Given the description of an element on the screen output the (x, y) to click on. 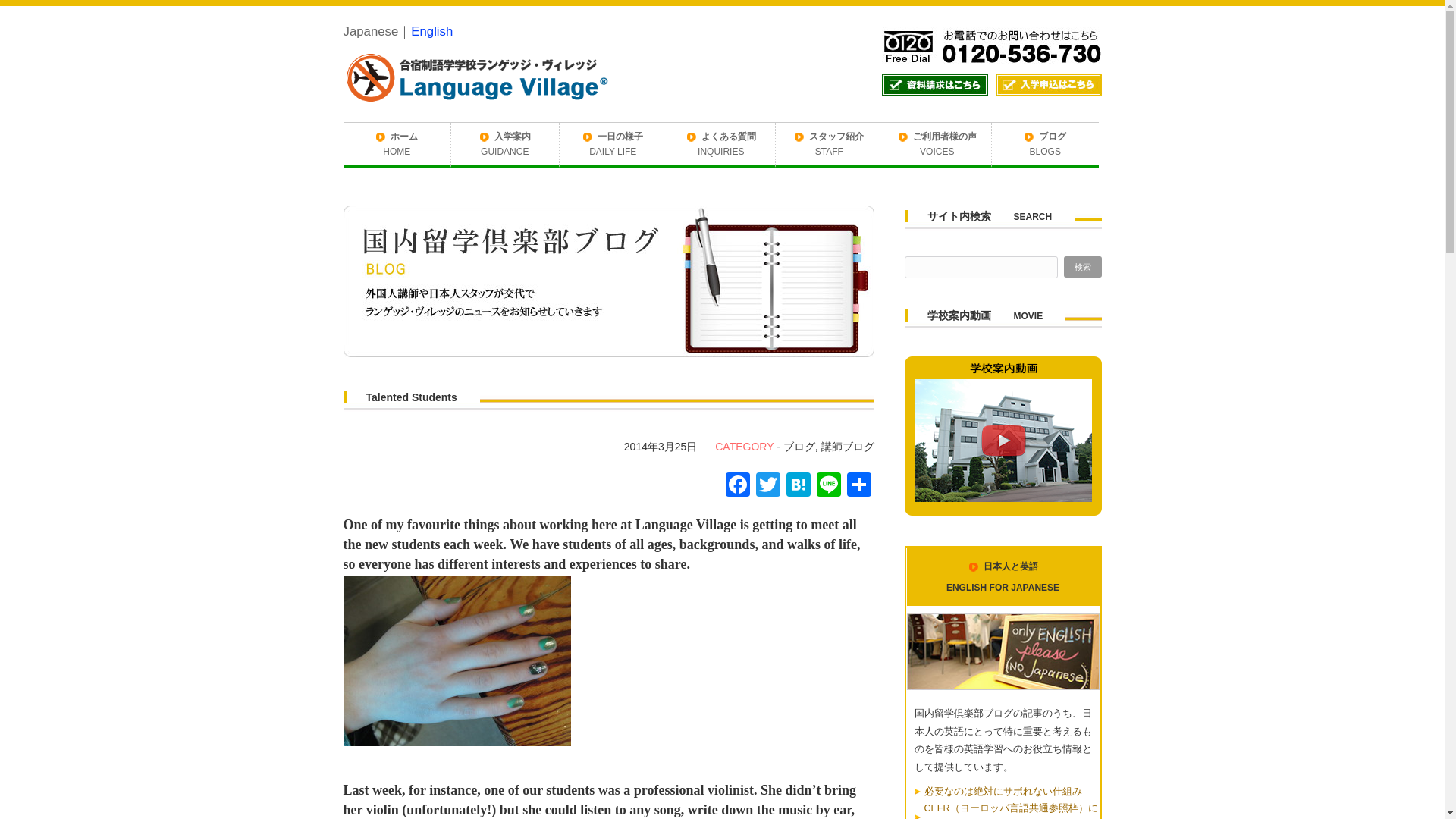
Facebook (737, 486)
Talented Students (411, 397)
Line (827, 486)
English (431, 31)
Twitter (767, 486)
Line (827, 486)
Hatena (797, 486)
Twitter (767, 486)
Hatena (797, 486)
Facebook (737, 486)
